Given the description of an element on the screen output the (x, y) to click on. 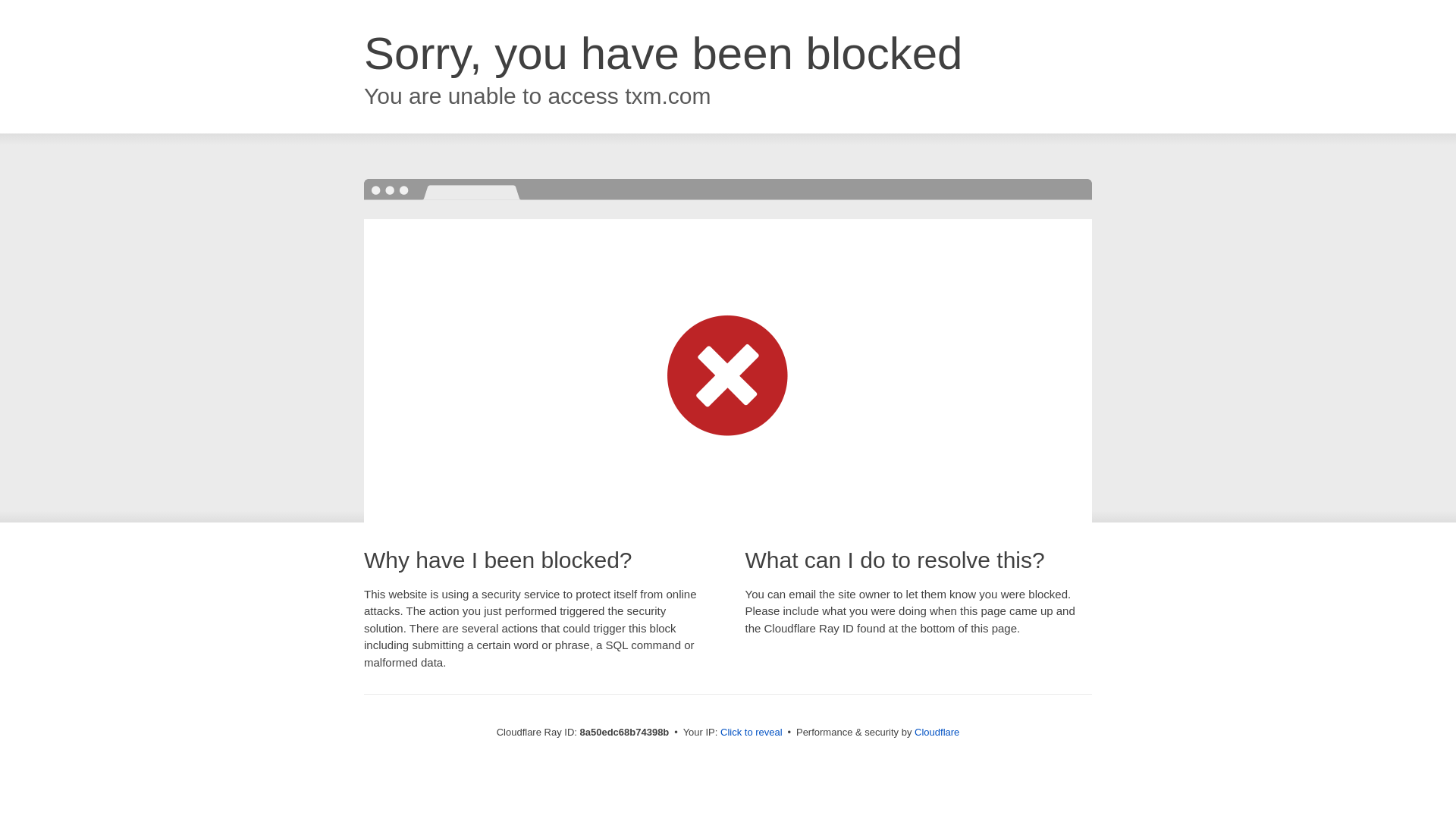
Click to reveal (751, 732)
Cloudflare (936, 731)
